Given the description of an element on the screen output the (x, y) to click on. 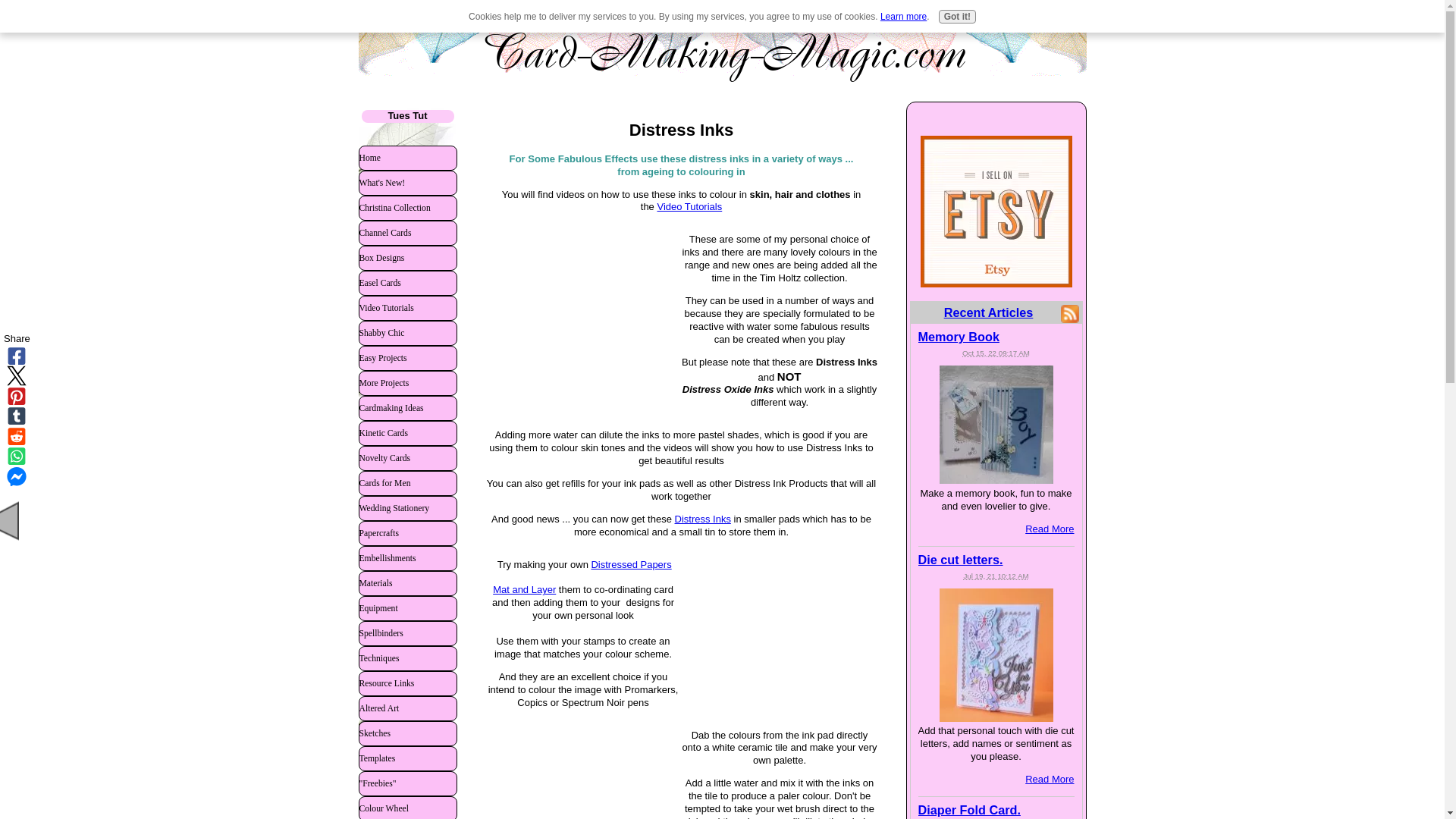
Easel Cards (407, 282)
Easy Projects (407, 358)
Video Tutorials (689, 206)
Video Tutorials (407, 308)
Shabby Chic (407, 332)
More Projects (407, 382)
Distress Inks (702, 518)
Distressed Papers (635, 570)
Box Designs (407, 258)
What's New! (407, 181)
